Given the description of an element on the screen output the (x, y) to click on. 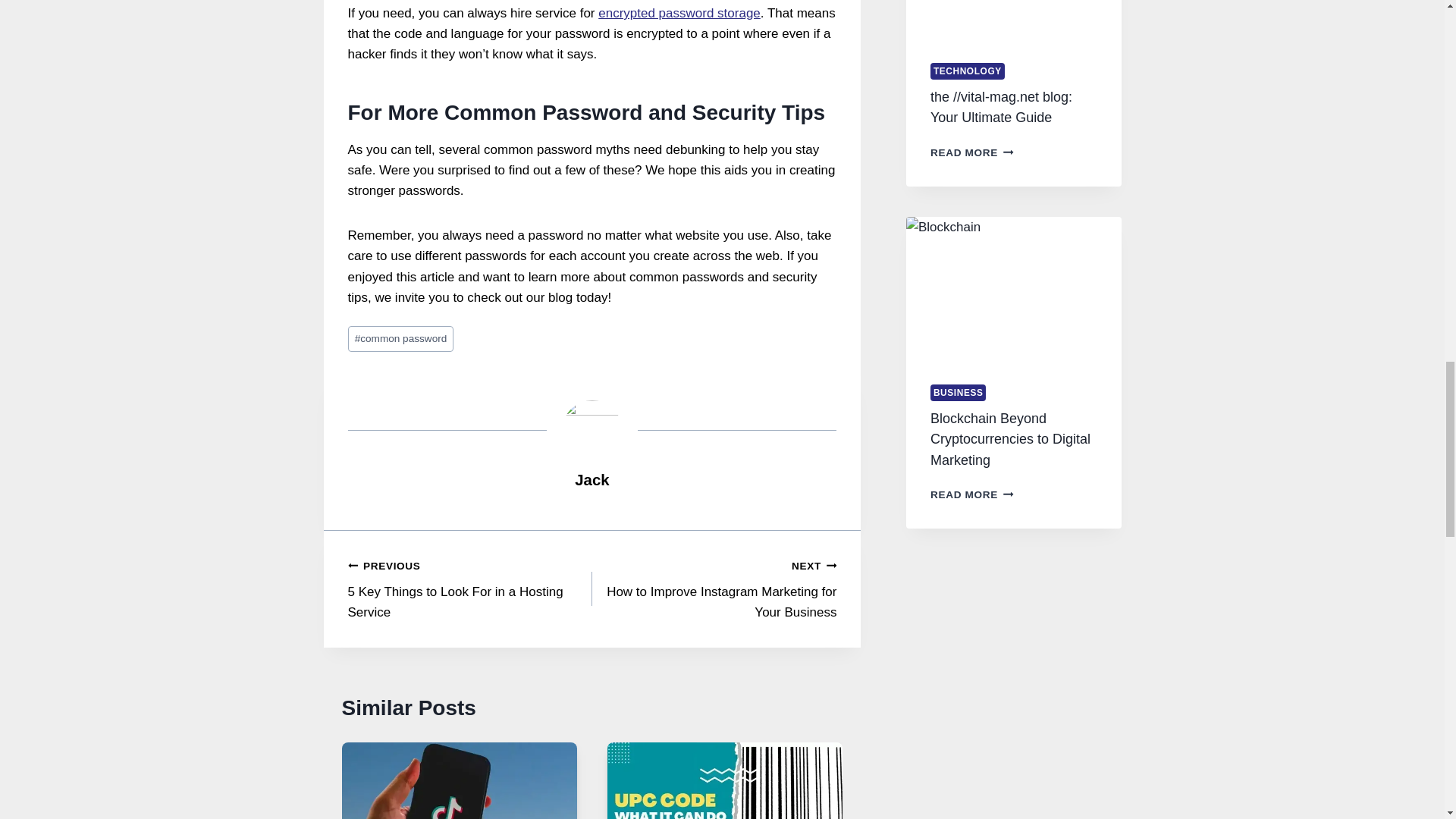
encrypted password storage (679, 12)
Posts by Jack (591, 479)
Jack (713, 589)
common password (469, 589)
